Given the description of an element on the screen output the (x, y) to click on. 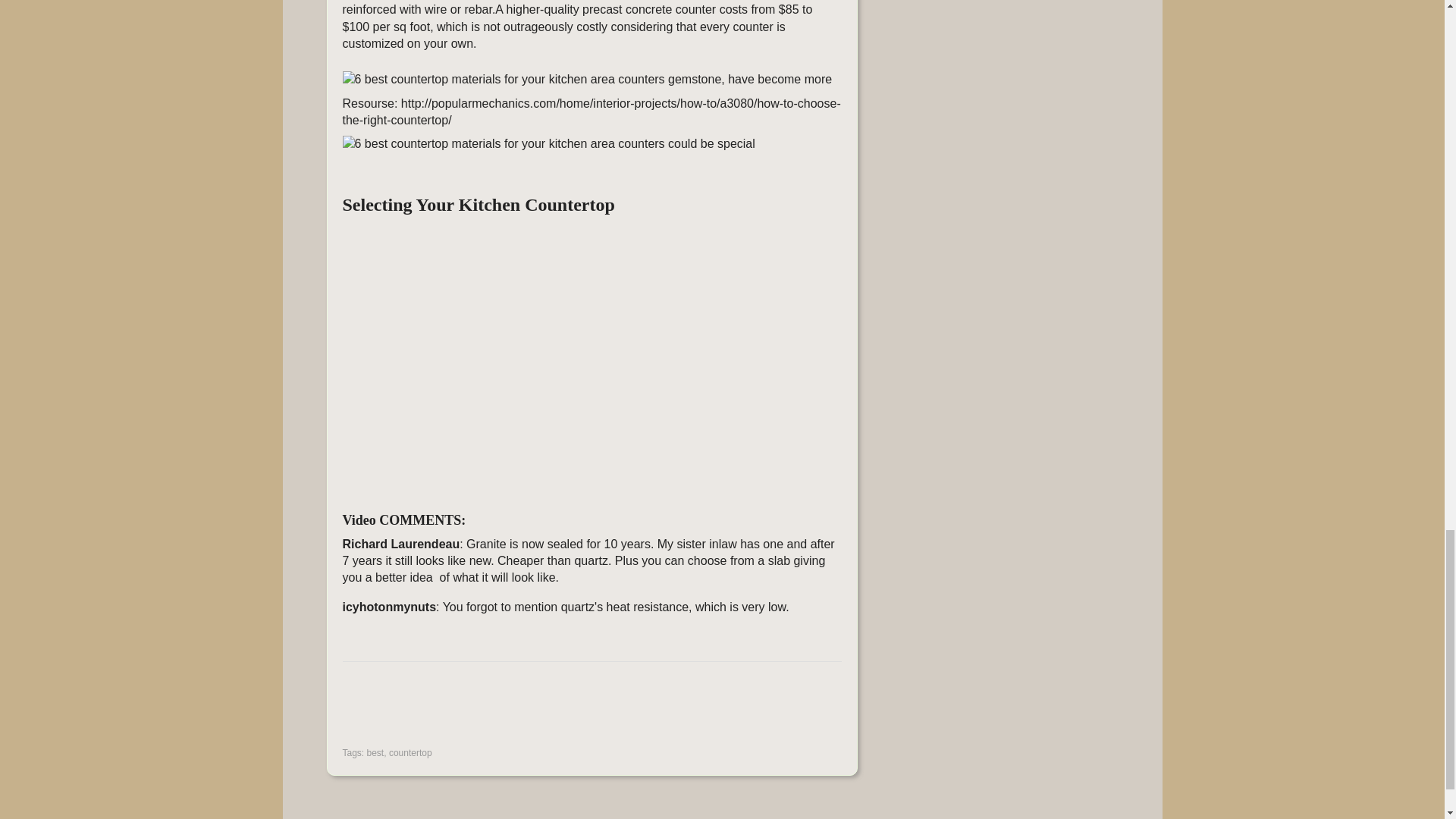
Share in Facebook (357, 711)
Share in OK (433, 711)
Share in Twitter (509, 711)
countertop (410, 752)
Share in VK (395, 711)
best (375, 752)
